Given the description of an element on the screen output the (x, y) to click on. 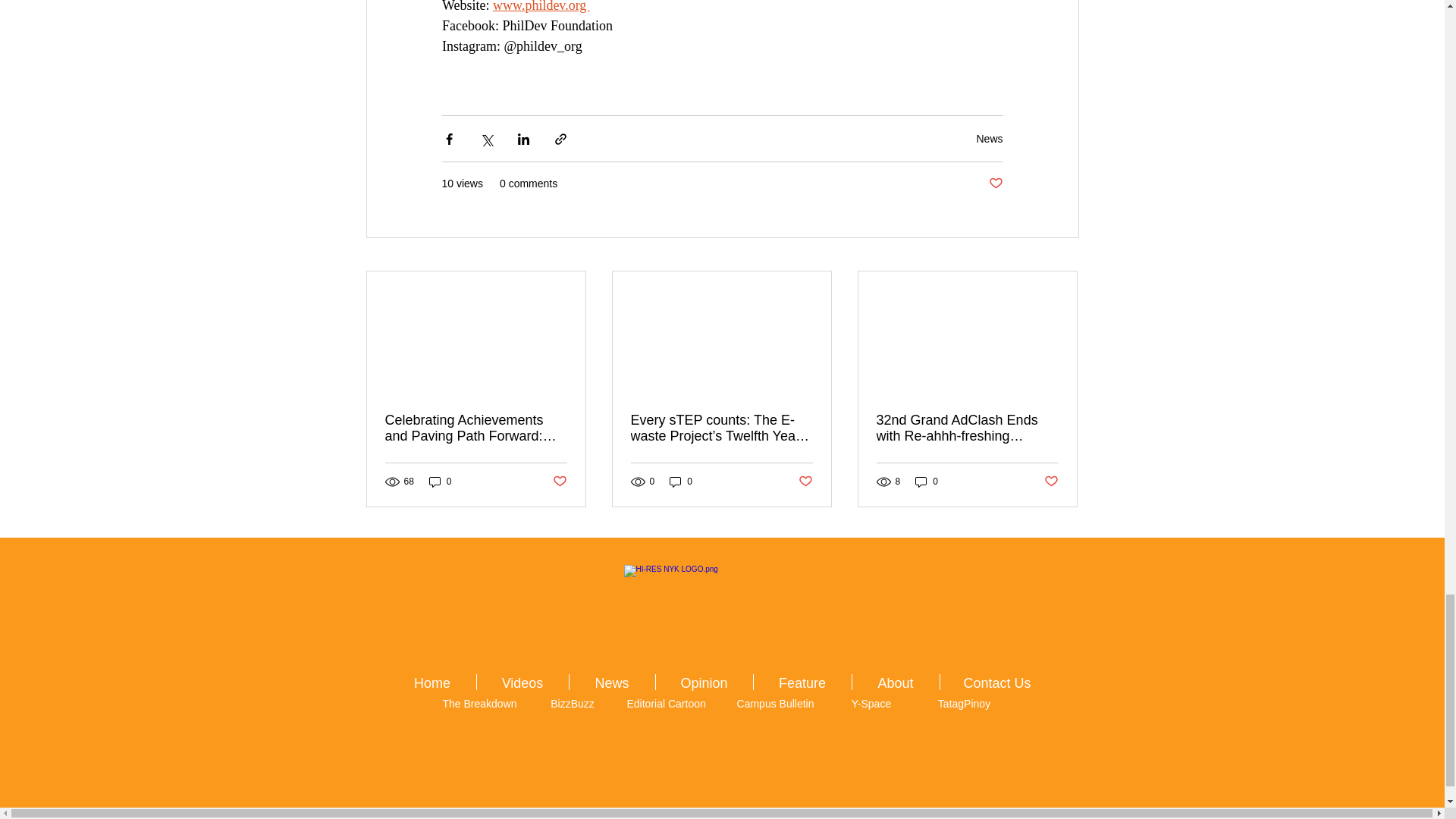
Post not marked as liked (804, 481)
0 (926, 481)
Post not marked as liked (558, 481)
www.phildev.org  (541, 6)
0 (681, 481)
News (989, 138)
0 (440, 481)
Post not marked as liked (1050, 481)
32nd Grand AdClash Ends with Re-ahhh-freshing Success (967, 428)
